Given the description of an element on the screen output the (x, y) to click on. 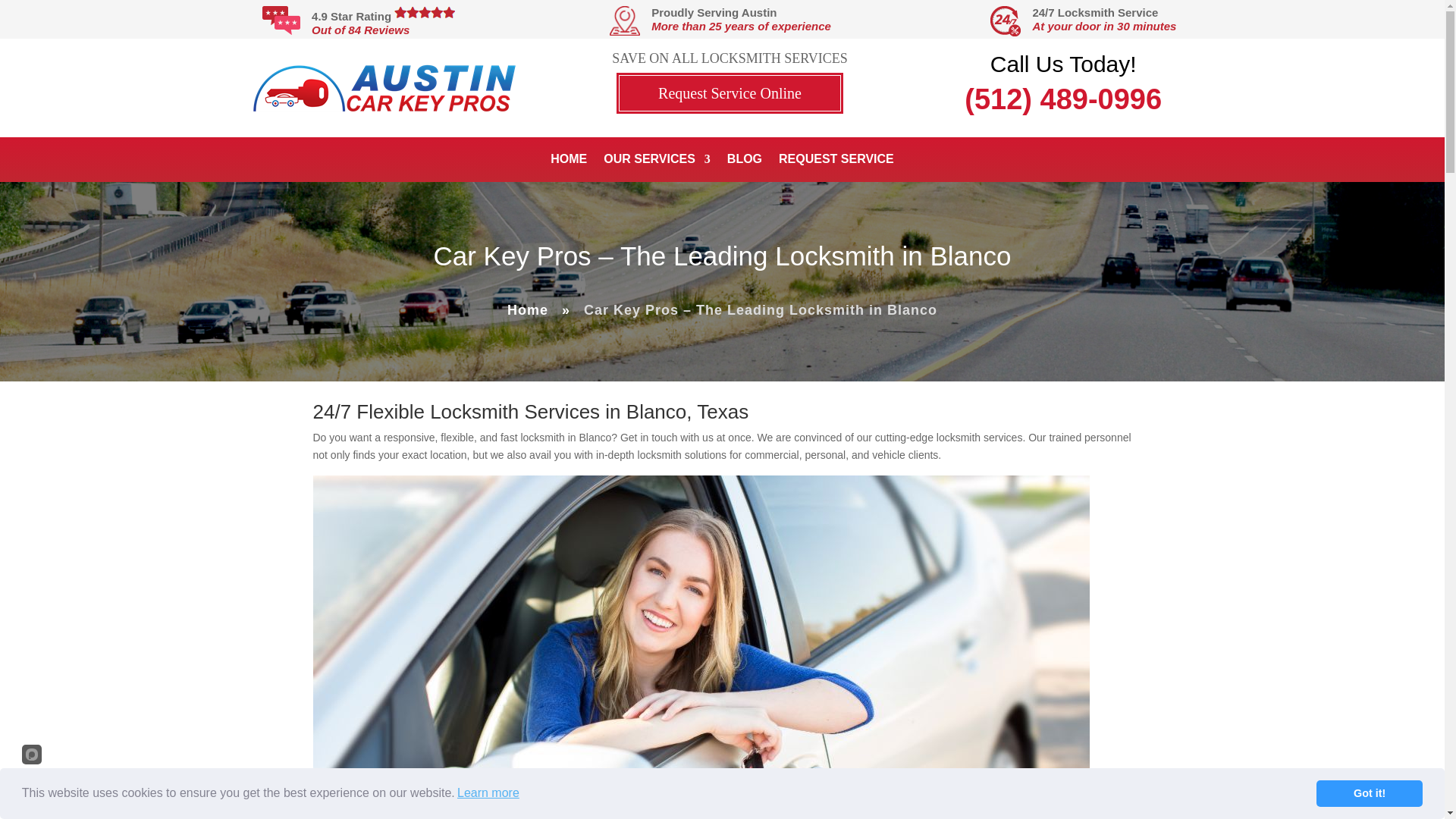
Car-Key-Pros-100 (383, 87)
Request Service Online (729, 92)
OUR SERVICES (657, 161)
HOME (568, 161)
